Given the description of an element on the screen output the (x, y) to click on. 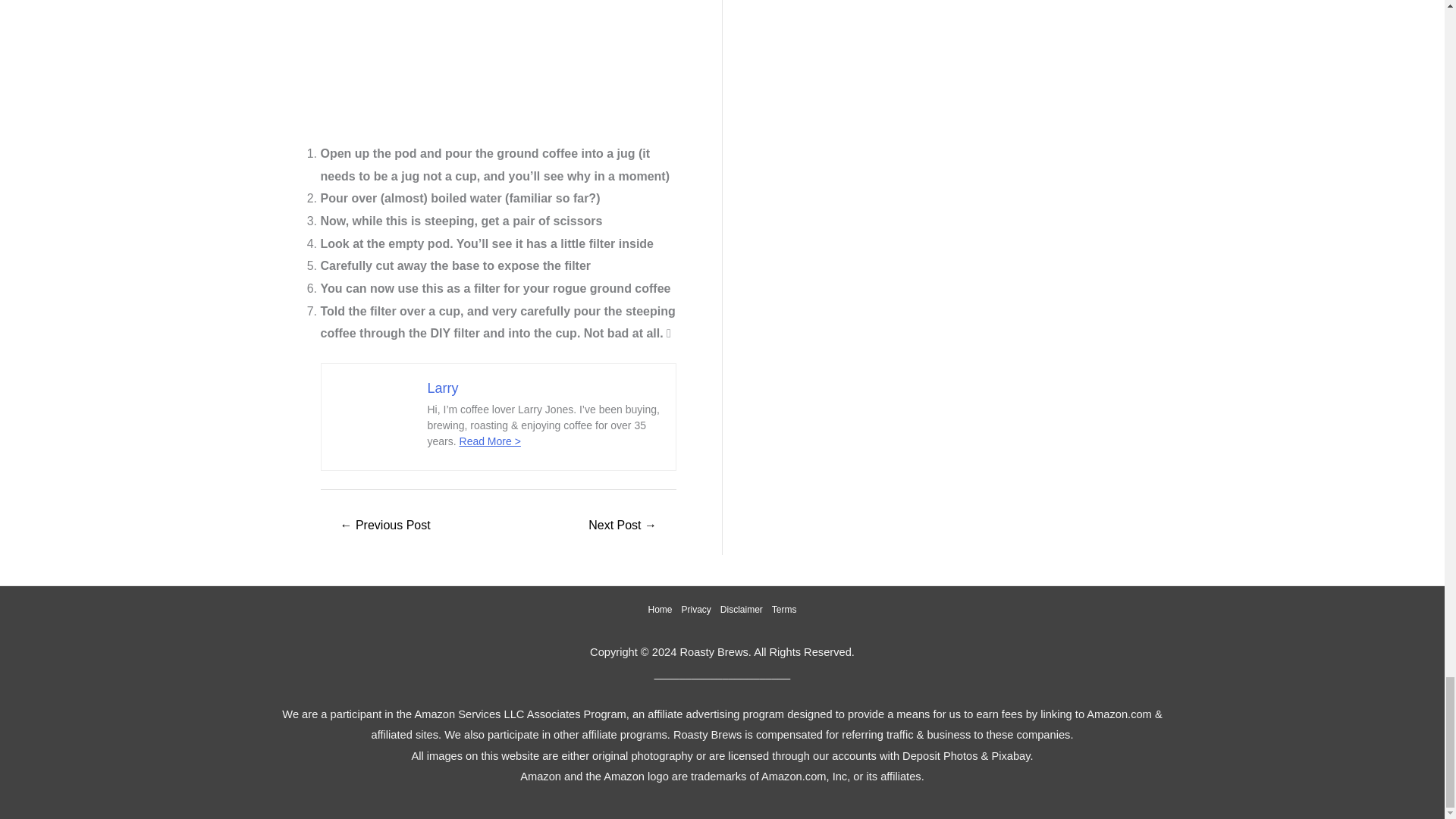
Larry (443, 387)
Privacy (695, 609)
Terms (781, 609)
Disclaimer (741, 609)
Home (662, 609)
